Given the description of an element on the screen output the (x, y) to click on. 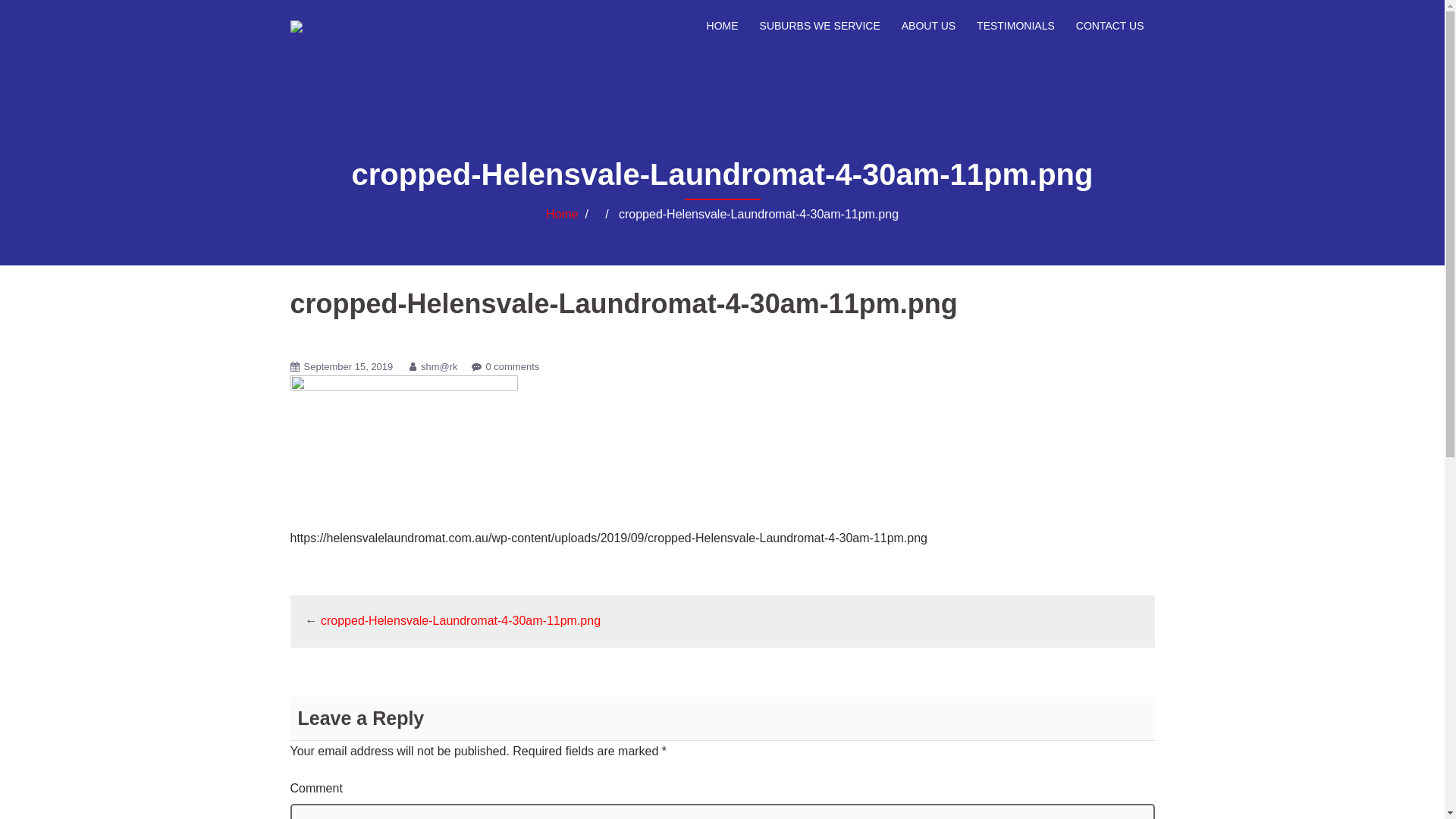
TESTIMONIALS Element type: text (1015, 25)
shm@rk Element type: text (439, 366)
0 comments Element type: text (512, 366)
Helensvale Laundromat Element type: hover (295, 24)
HOME Element type: text (722, 25)
CONTACT US Element type: text (1110, 25)
Home Element type: text (562, 213)
ABOUT US Element type: text (928, 25)
cropped-Helensvale-Laundromat-4-30am-11pm.png Element type: text (460, 620)
September 15, 2019 Element type: text (347, 366)
SUBURBS WE SERVICE Element type: text (819, 25)
